Given the description of an element on the screen output the (x, y) to click on. 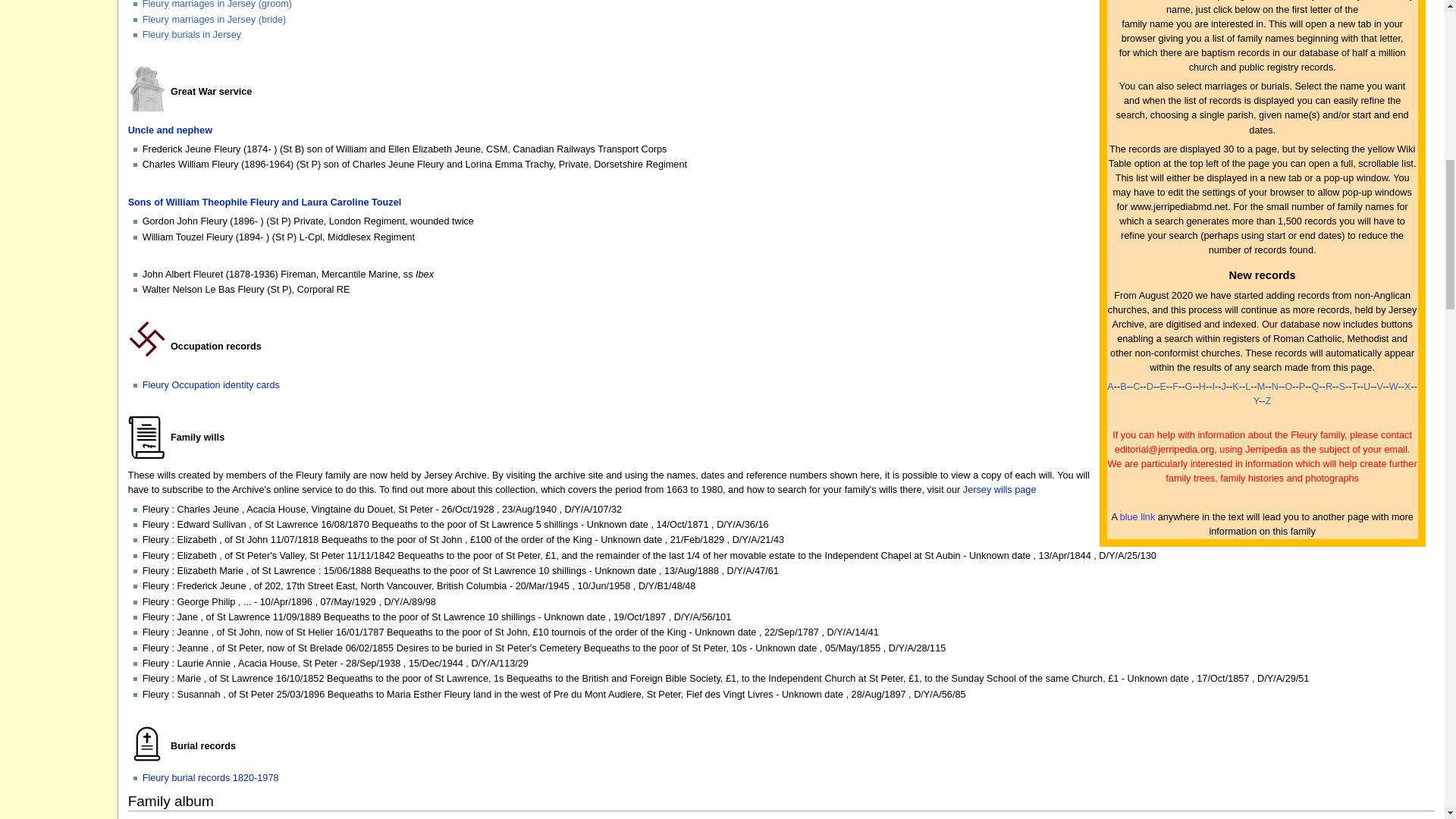
Fleury burial records 1820-1978 (210, 777)
Descendants of Jean Fleury (264, 202)
Descendants of Jean Fleury (170, 130)
Jersey wills (999, 489)
Fleury Occupation identity cards (210, 385)
